Given the description of an element on the screen output the (x, y) to click on. 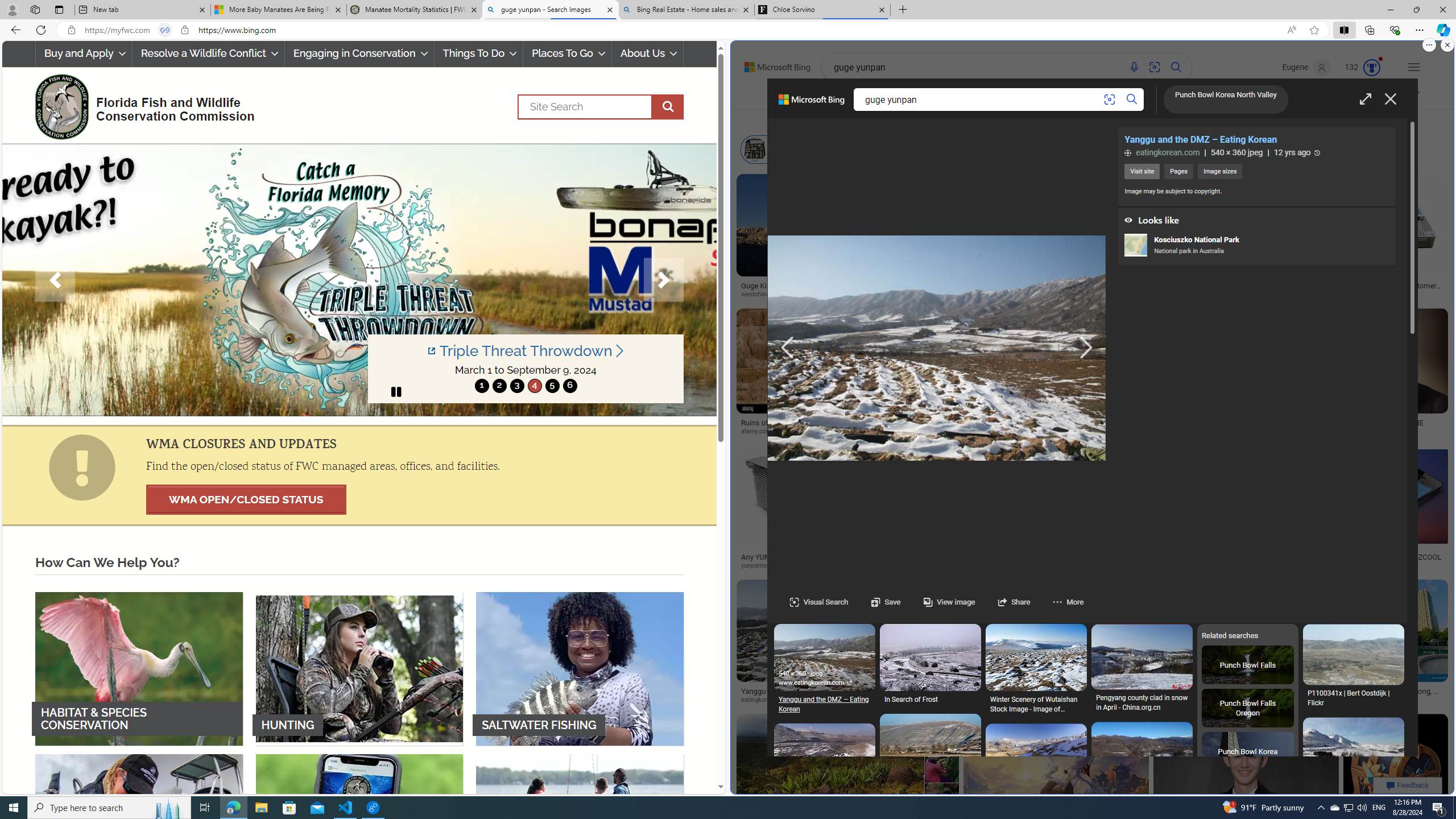
Pengyang county clad in snow in April - China.org.cn (1141, 703)
cartoondealer.com (1110, 294)
GUGE HOME, Online Shop | Shopee Philippines (1240, 426)
SEARCH (852, 96)
Depth Gauge (1016, 148)
1 (481, 385)
About Us (647, 53)
Save (884, 601)
